Given the description of an element on the screen output the (x, y) to click on. 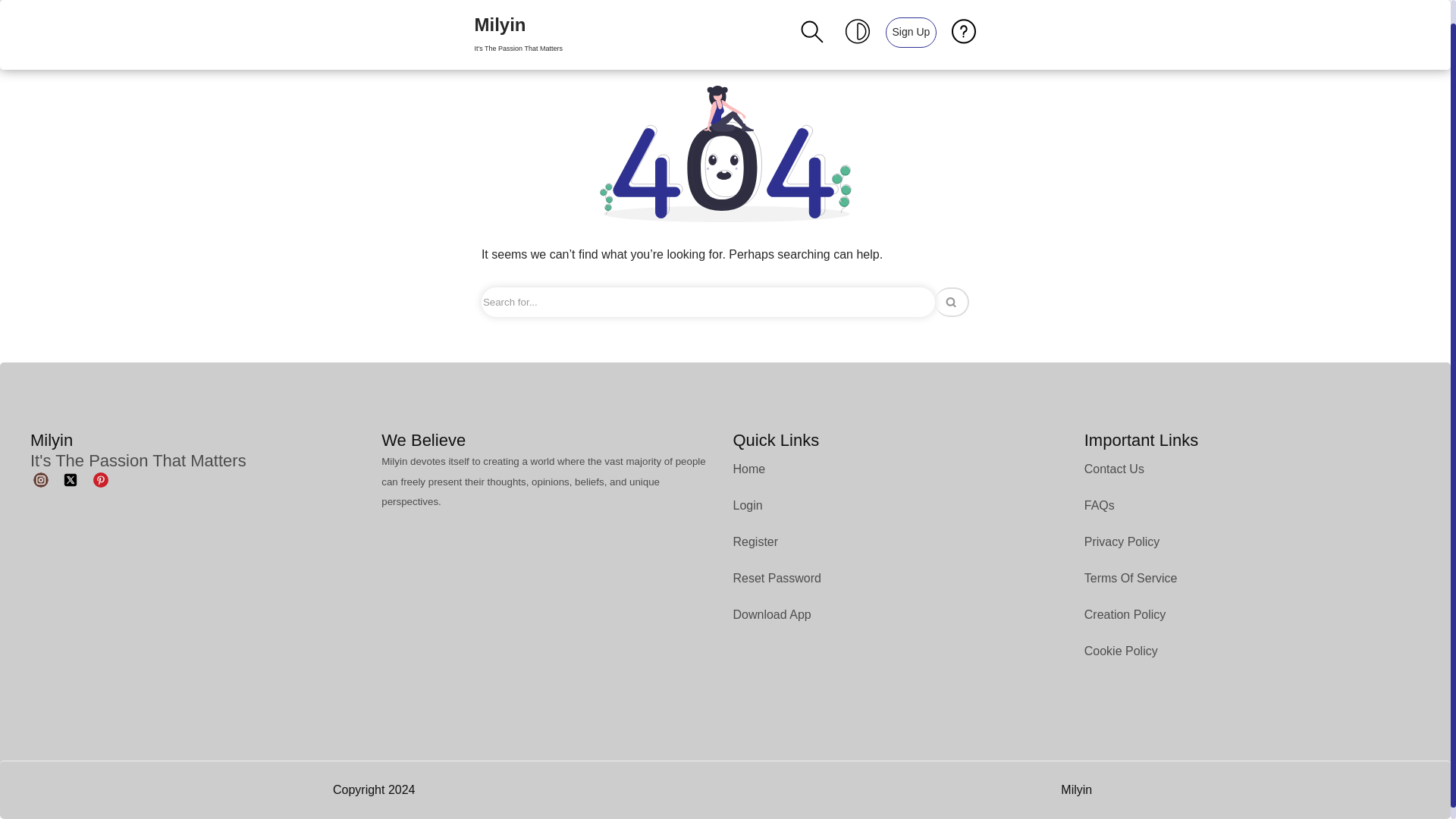
Milyin (518, 22)
Sign Up (911, 19)
Sign Up (910, 19)
Skip to content (518, 22)
